Given the description of an element on the screen output the (x, y) to click on. 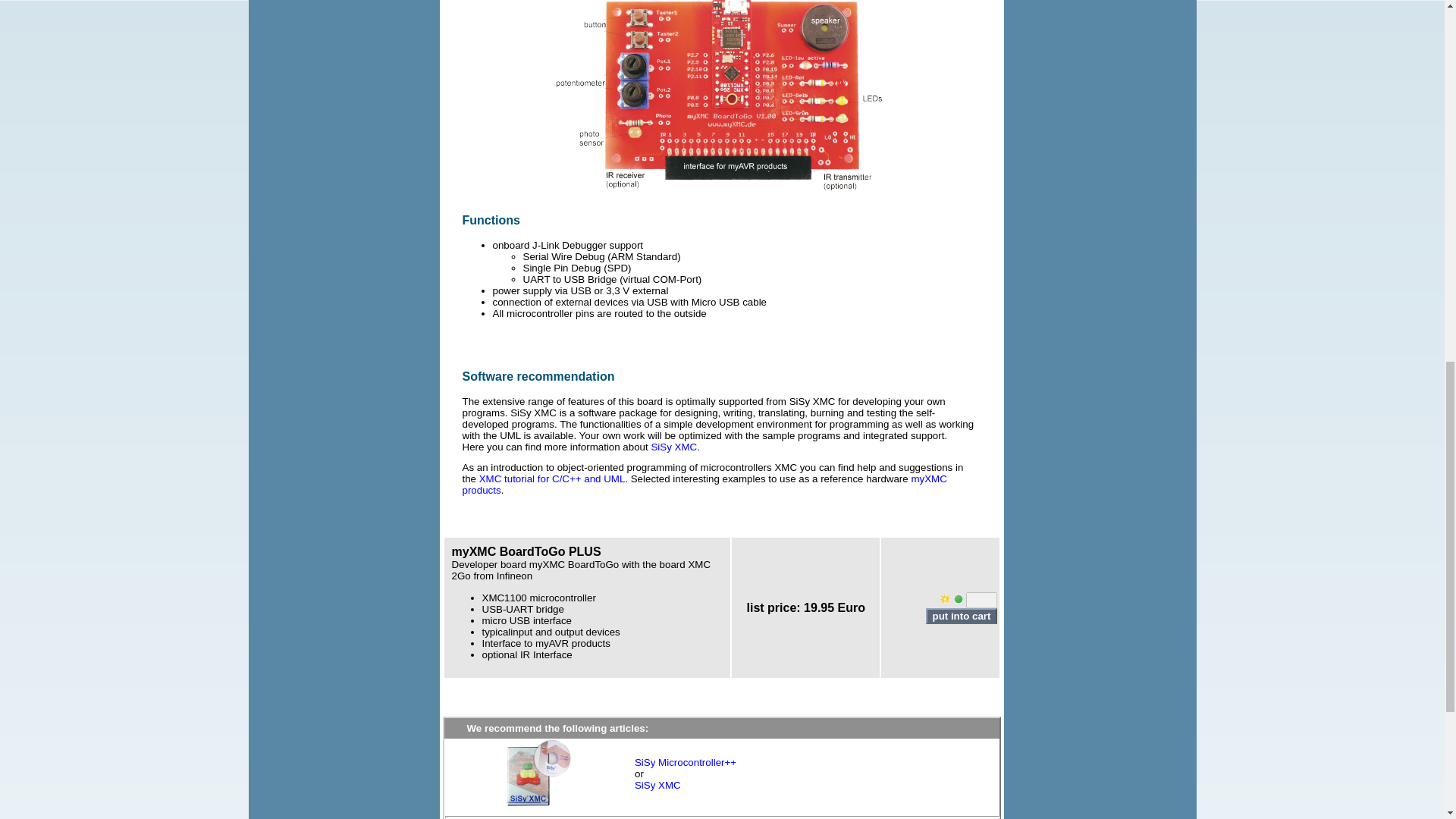
put into cart (960, 616)
Bestseller (944, 598)
available (957, 598)
